Given the description of an element on the screen output the (x, y) to click on. 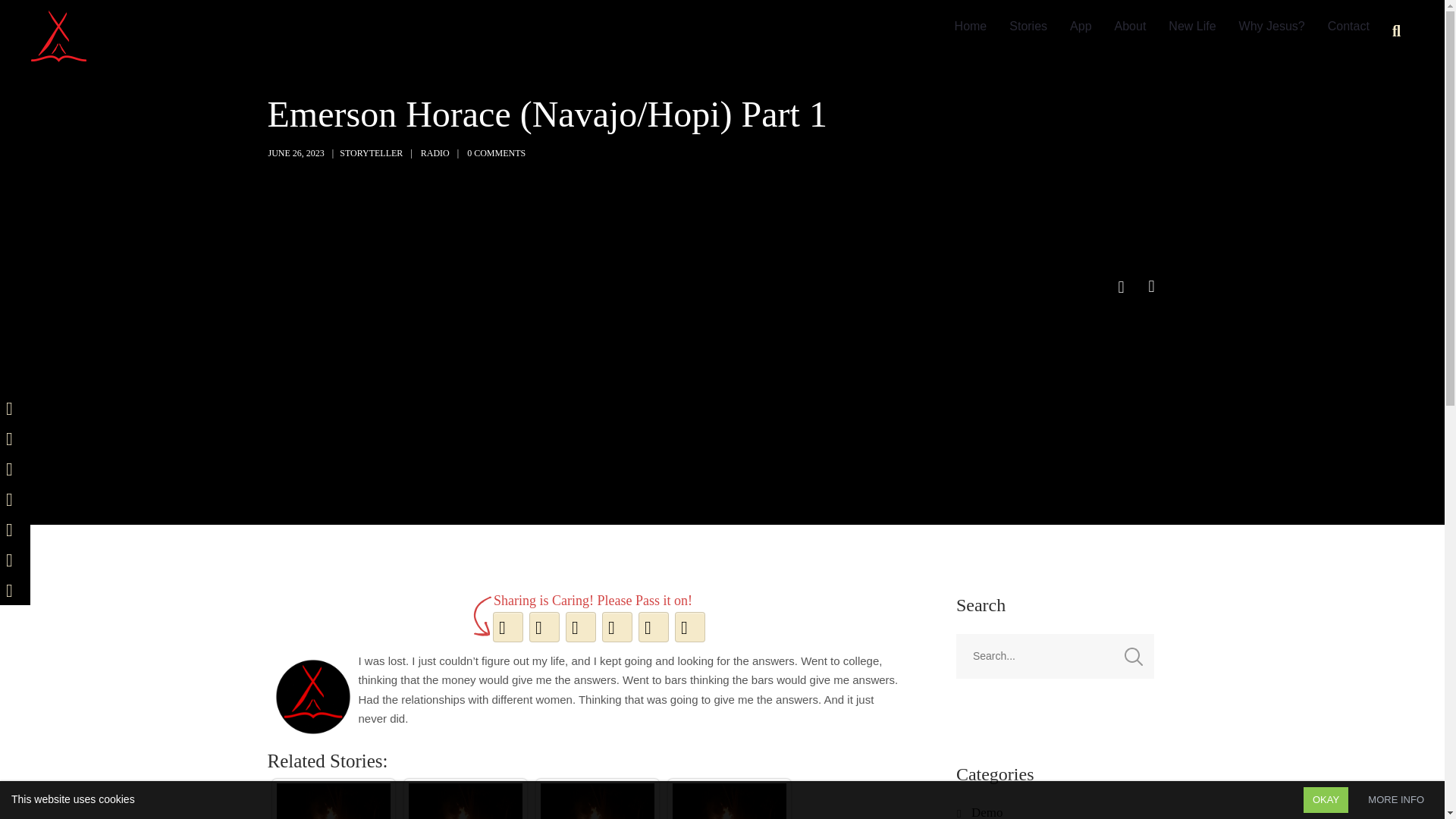
STORYTELLER (371, 153)
App (1080, 26)
Facebook (507, 627)
LinkedIn (616, 627)
Pinterest (580, 627)
Home (970, 26)
Without Reservation (58, 34)
Submit (29, 20)
Stories (1027, 26)
Email This (652, 627)
New Life (1192, 26)
About (1130, 26)
Why Jesus? (1271, 26)
More Options (689, 627)
Contact (1348, 26)
